Given the description of an element on the screen output the (x, y) to click on. 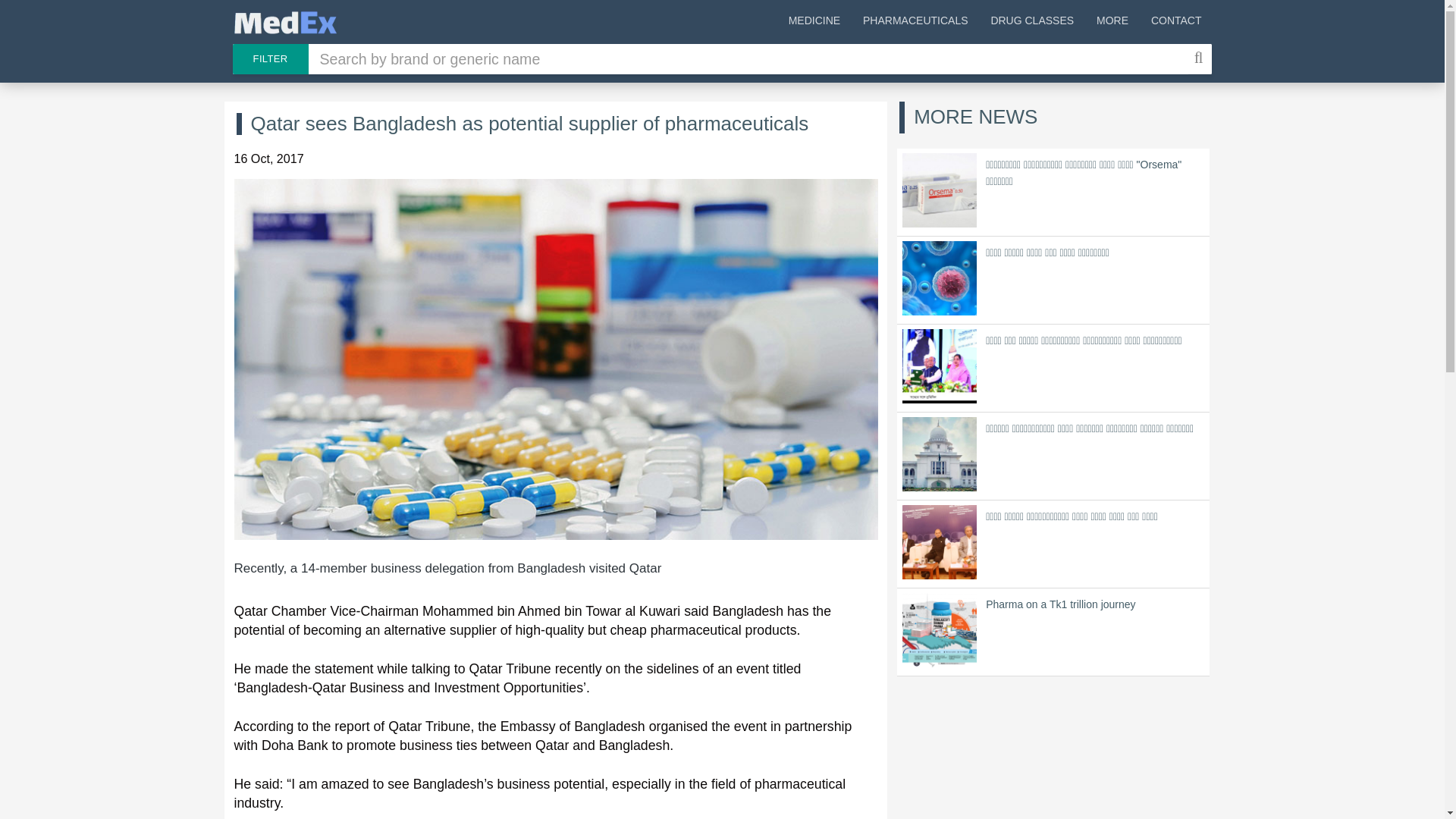
DRUG CLASSES (1031, 23)
MEDICINE (814, 23)
MedEx (284, 22)
Pharma on a Tk1 trillion journey (1052, 632)
FILTER (269, 59)
MORE (1112, 23)
CONTACT (1176, 23)
PHARMACEUTICALS (914, 23)
